Given the description of an element on the screen output the (x, y) to click on. 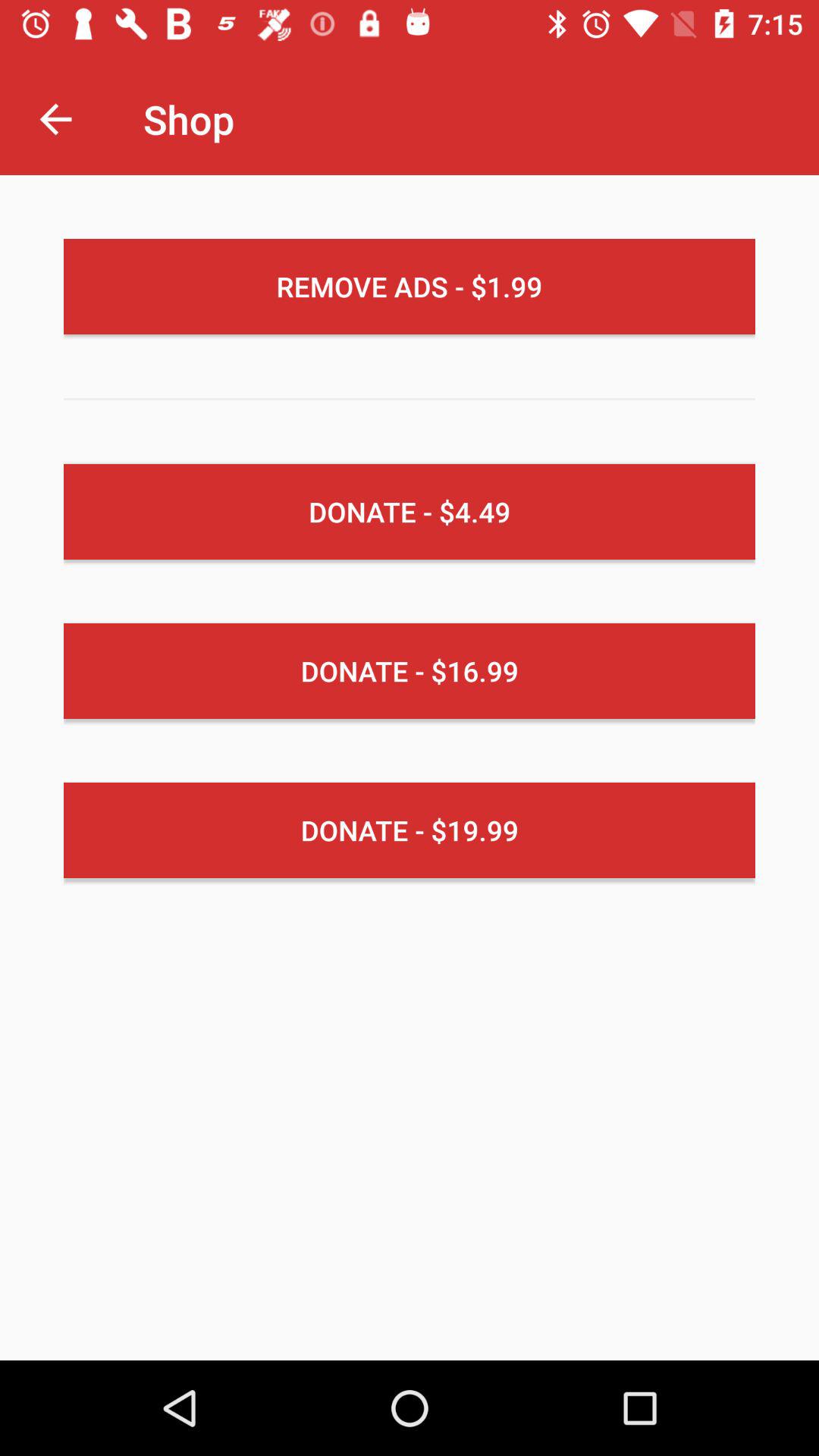
jump until the remove ads 1 (409, 286)
